Given the description of an element on the screen output the (x, y) to click on. 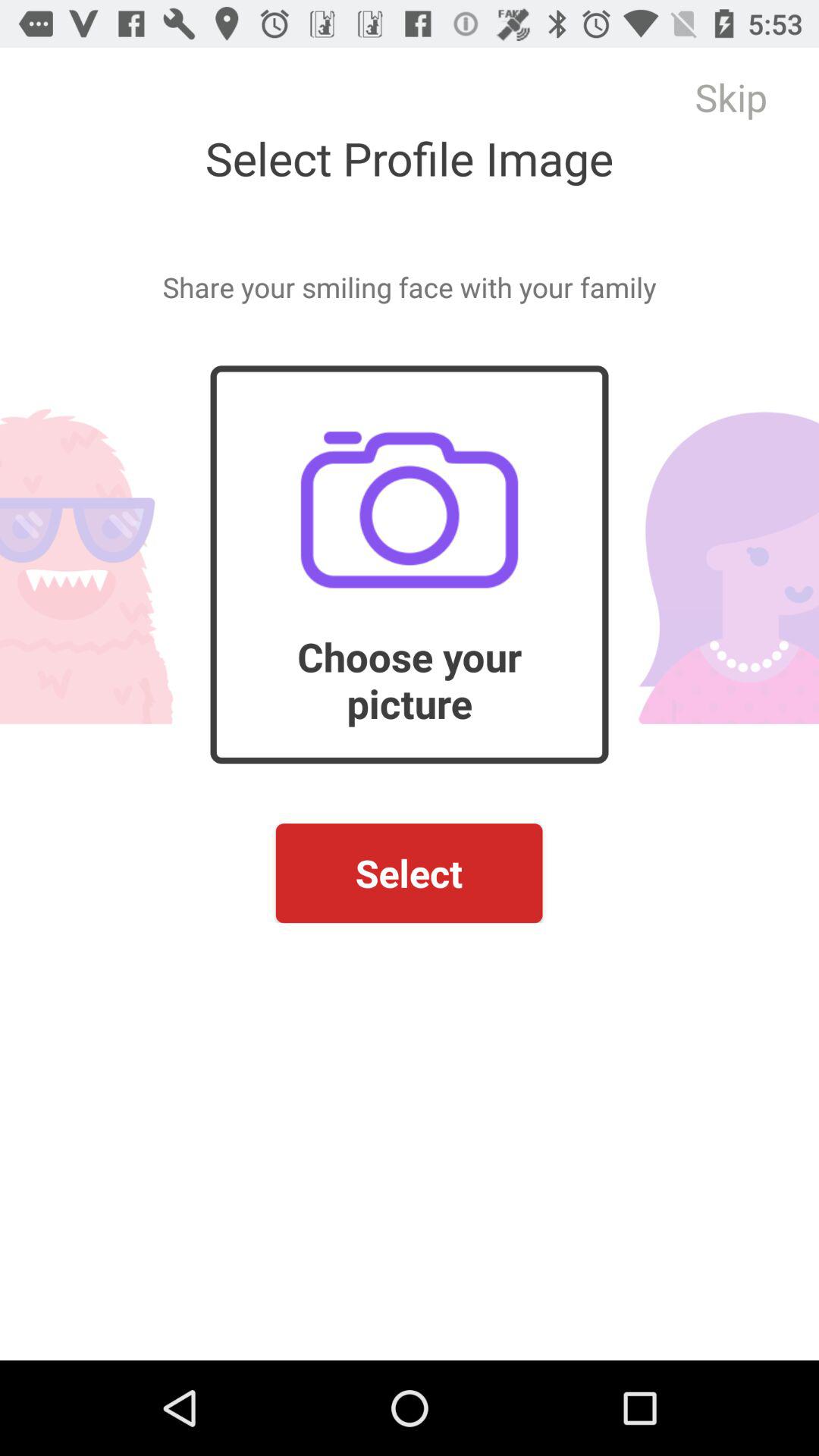
swipe until the skip icon (731, 97)
